Given the description of an element on the screen output the (x, y) to click on. 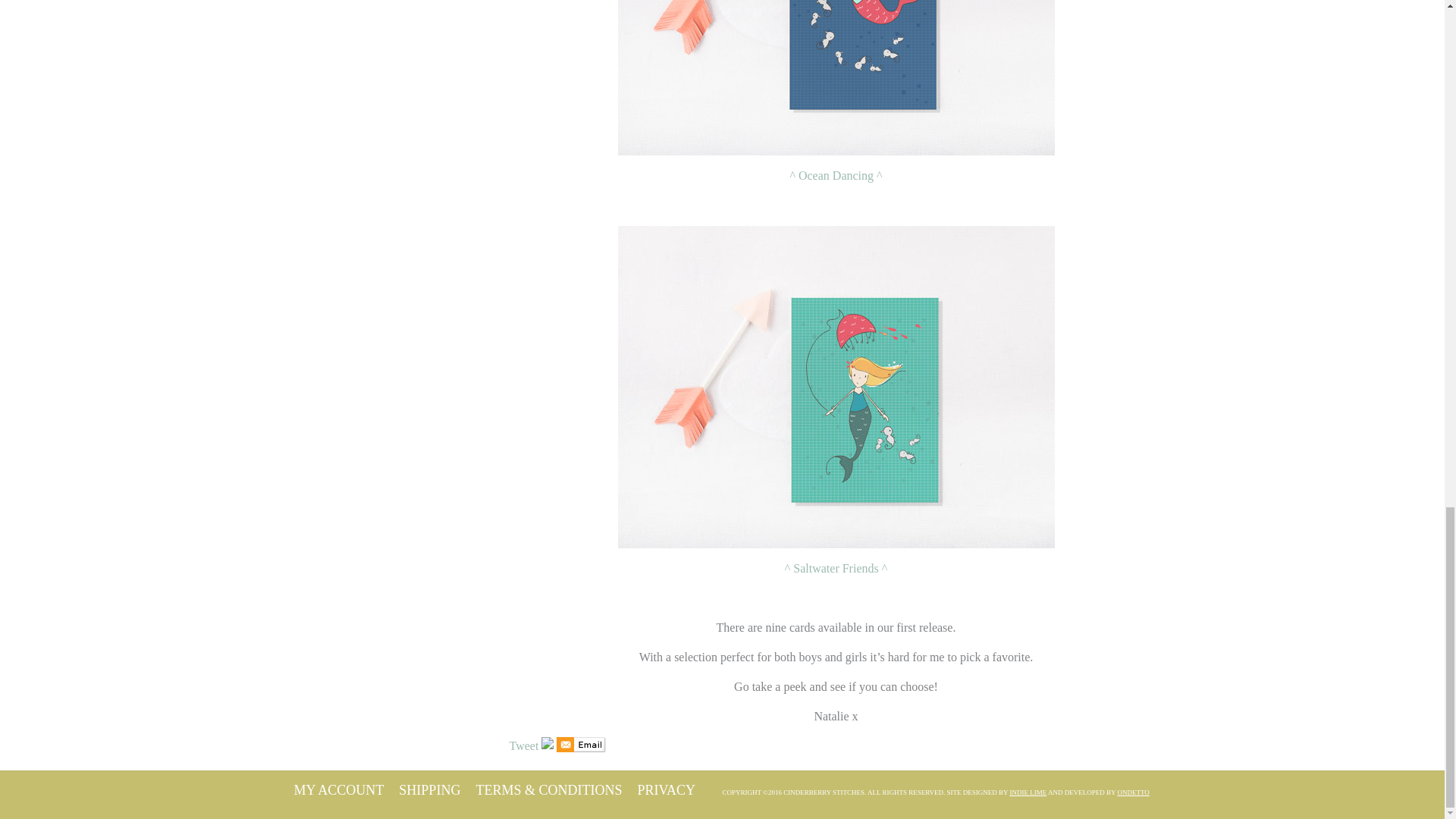
MY ACCOUNT (339, 789)
ONDETTO (1132, 792)
INDIE LIME (1027, 792)
SHIPPING (429, 789)
Email (580, 746)
PRIVACY (666, 789)
Tweet (523, 746)
